Given the description of an element on the screen output the (x, y) to click on. 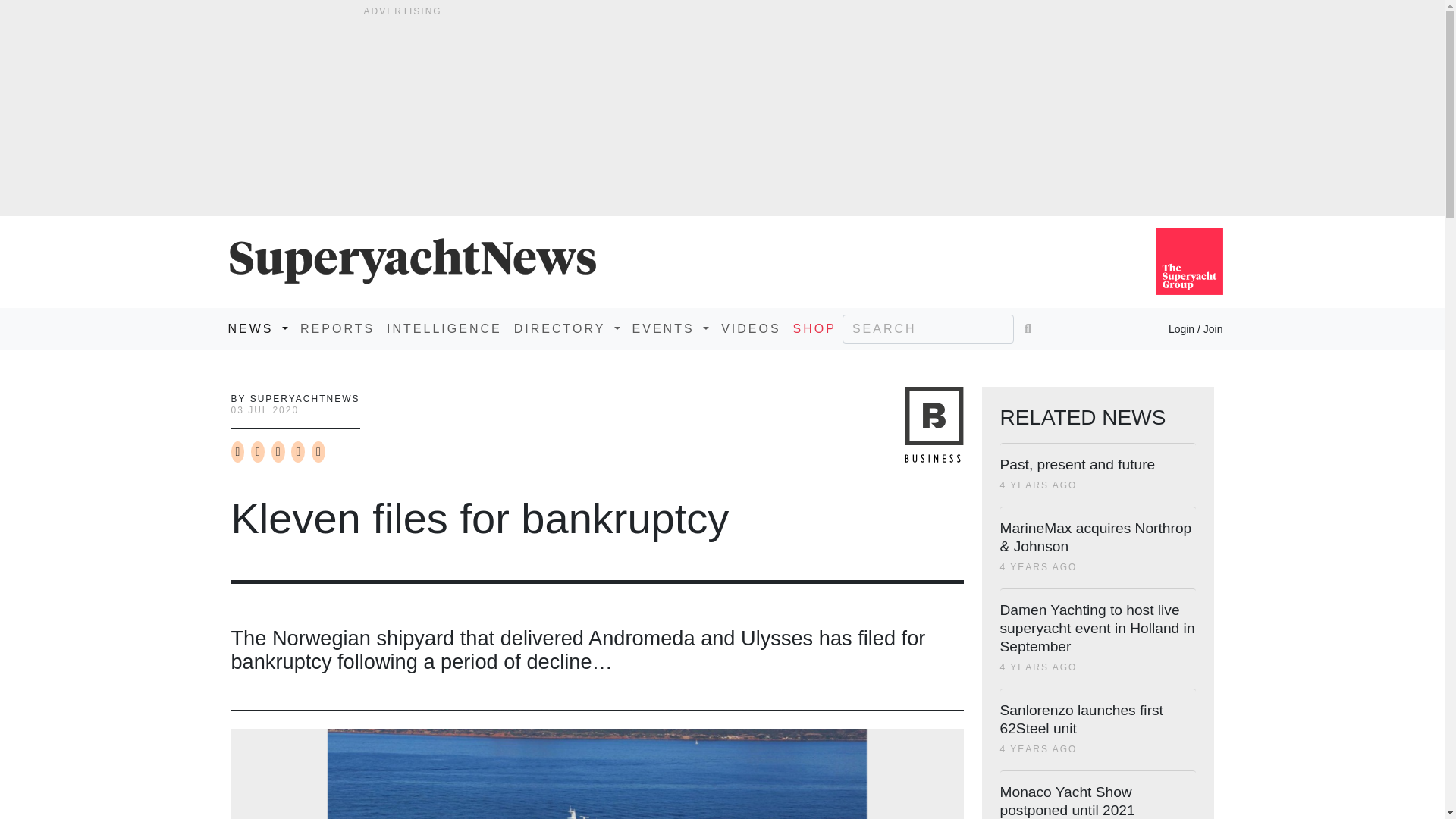
REPORTS (337, 328)
NEWS (257, 328)
INTELLIGENCE (444, 328)
VIDEOS (750, 328)
DIRECTORY (567, 328)
SHOP (815, 328)
EVENTS (671, 328)
